Given the description of an element on the screen output the (x, y) to click on. 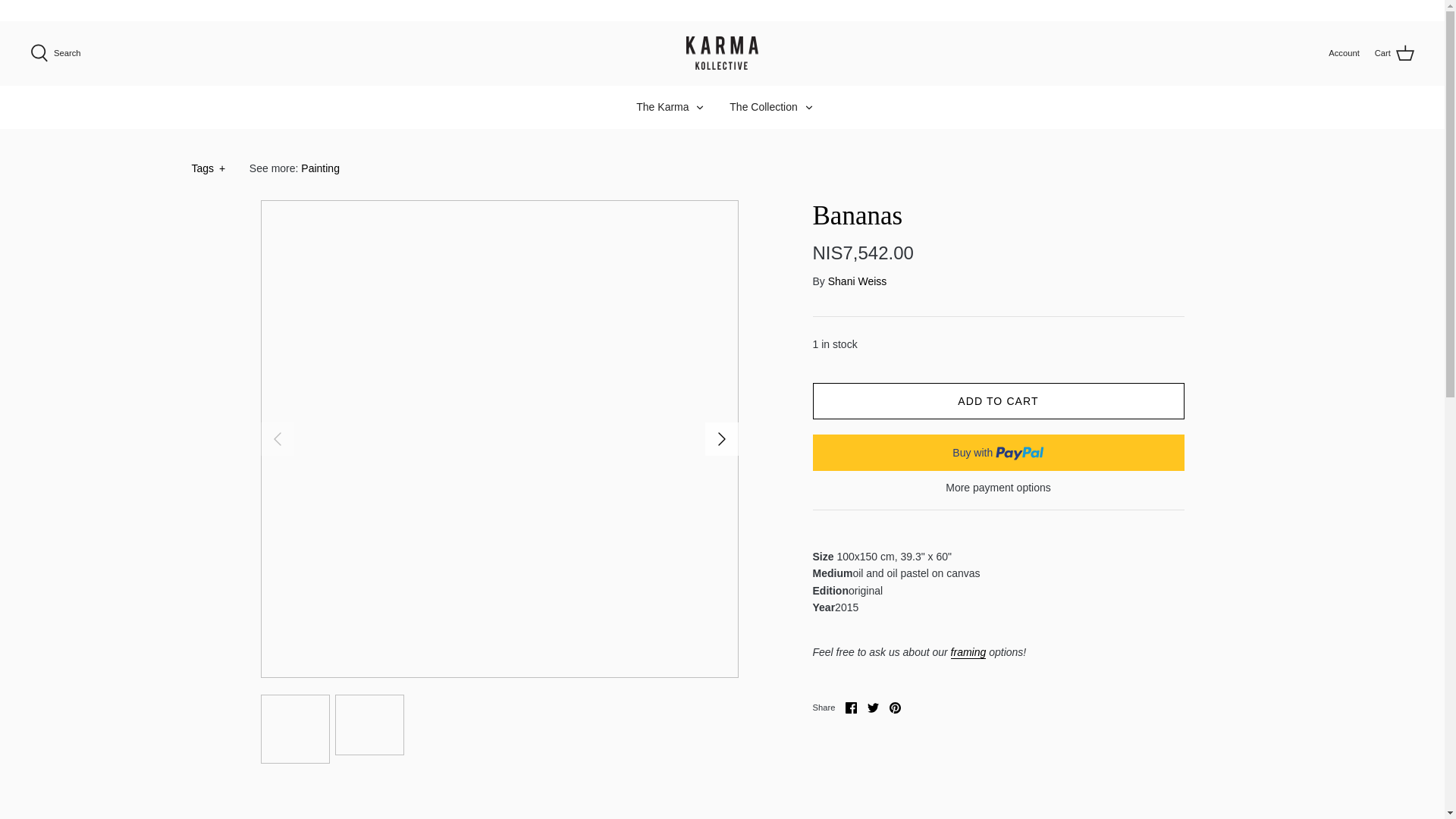
Down (1406, 9)
Pinterest (895, 707)
The Collection (763, 106)
Twitter (1391, 10)
RIGHT (873, 707)
Karma Kollective (721, 438)
Toggle menu (721, 53)
Account (808, 107)
Search (1342, 52)
